Given the description of an element on the screen output the (x, y) to click on. 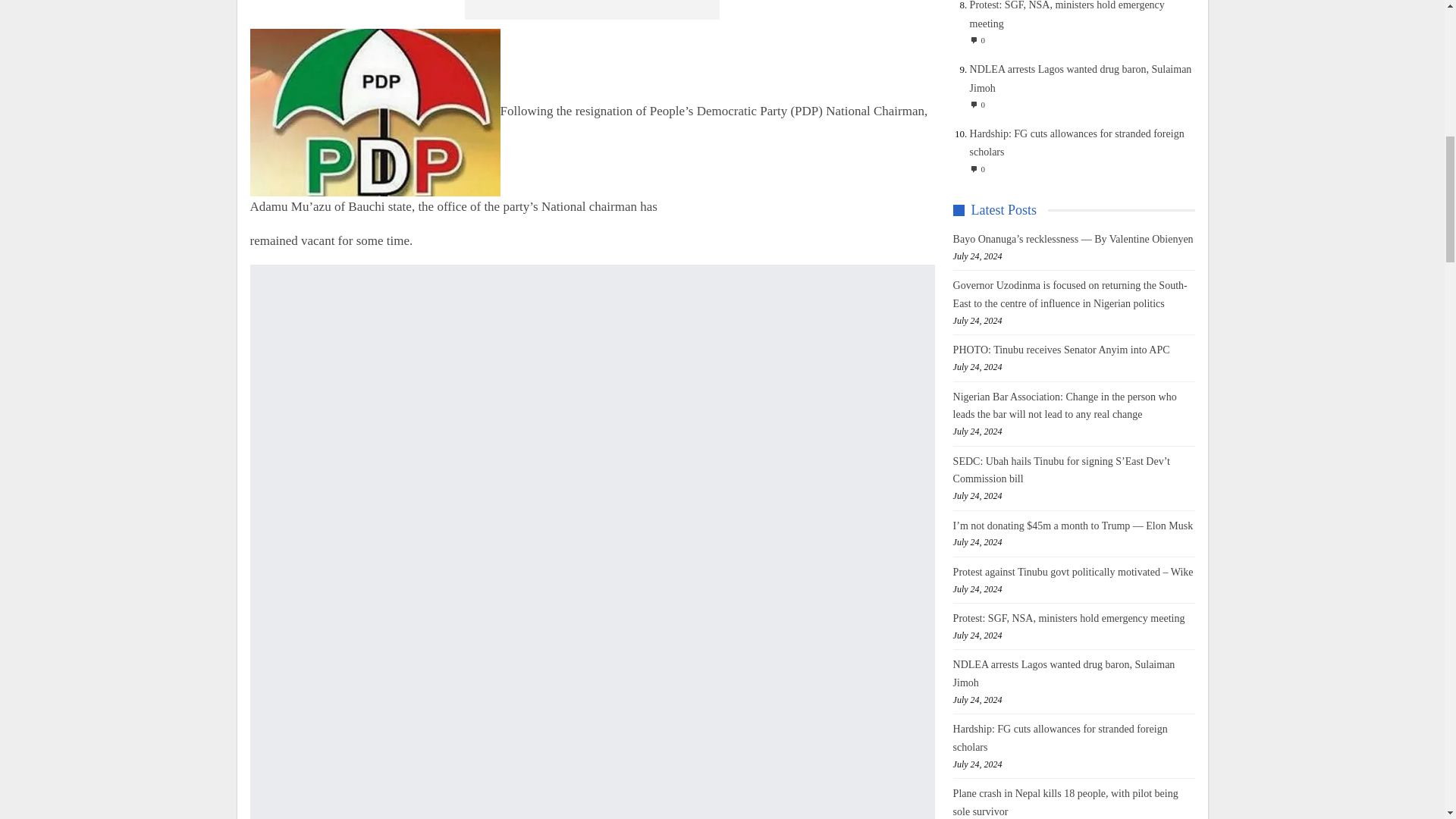
Advertisement (617, 9)
